Given the description of an element on the screen output the (x, y) to click on. 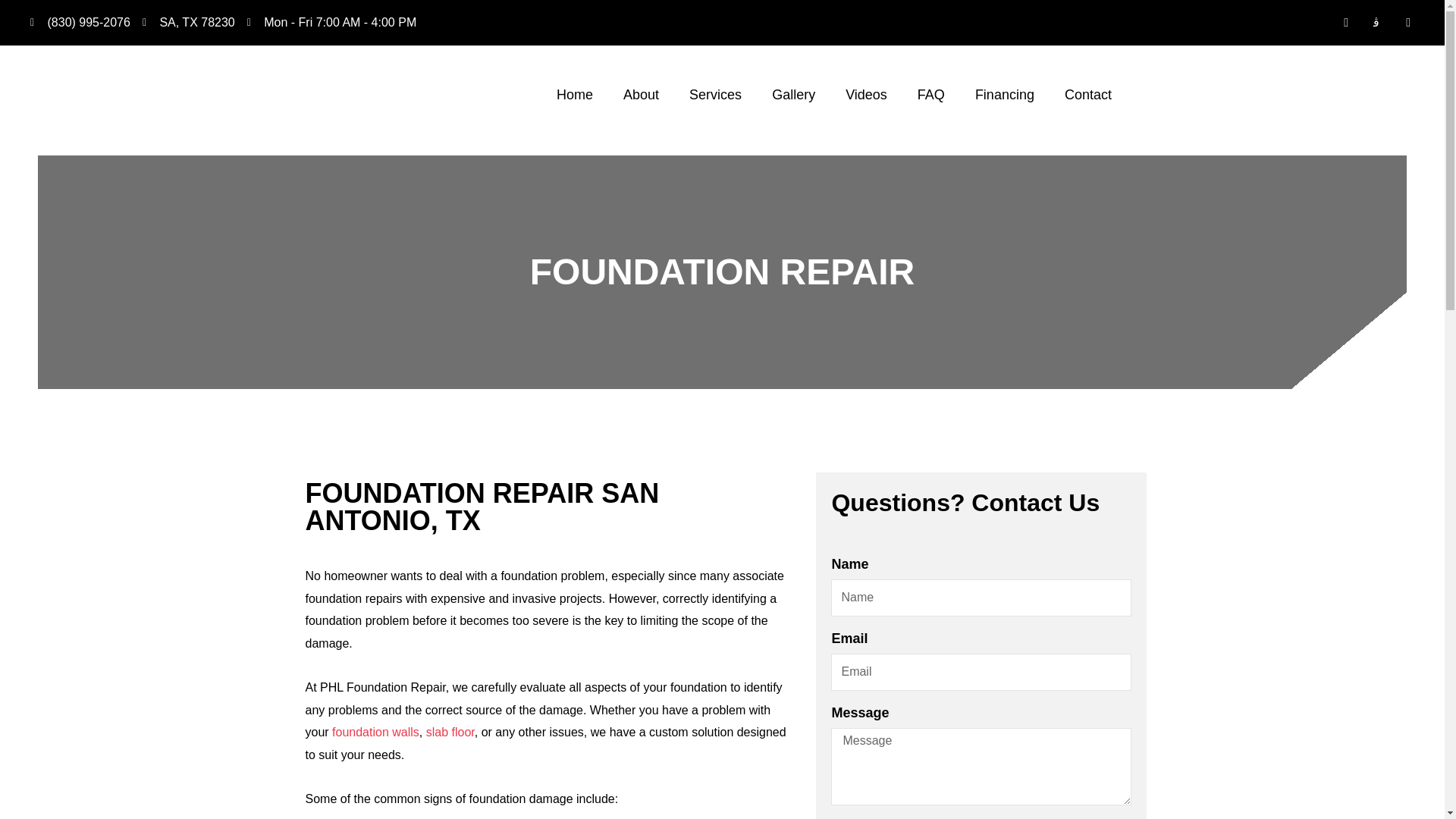
foundation walls (375, 731)
Gallery (793, 94)
SA, TX 78230 (188, 22)
Home (574, 94)
Stem Wall Foundation (375, 731)
Concrete Slab Repair (450, 731)
Financing (1004, 94)
FAQ (930, 94)
Contact (1087, 94)
About (641, 94)
